Given the description of an element on the screen output the (x, y) to click on. 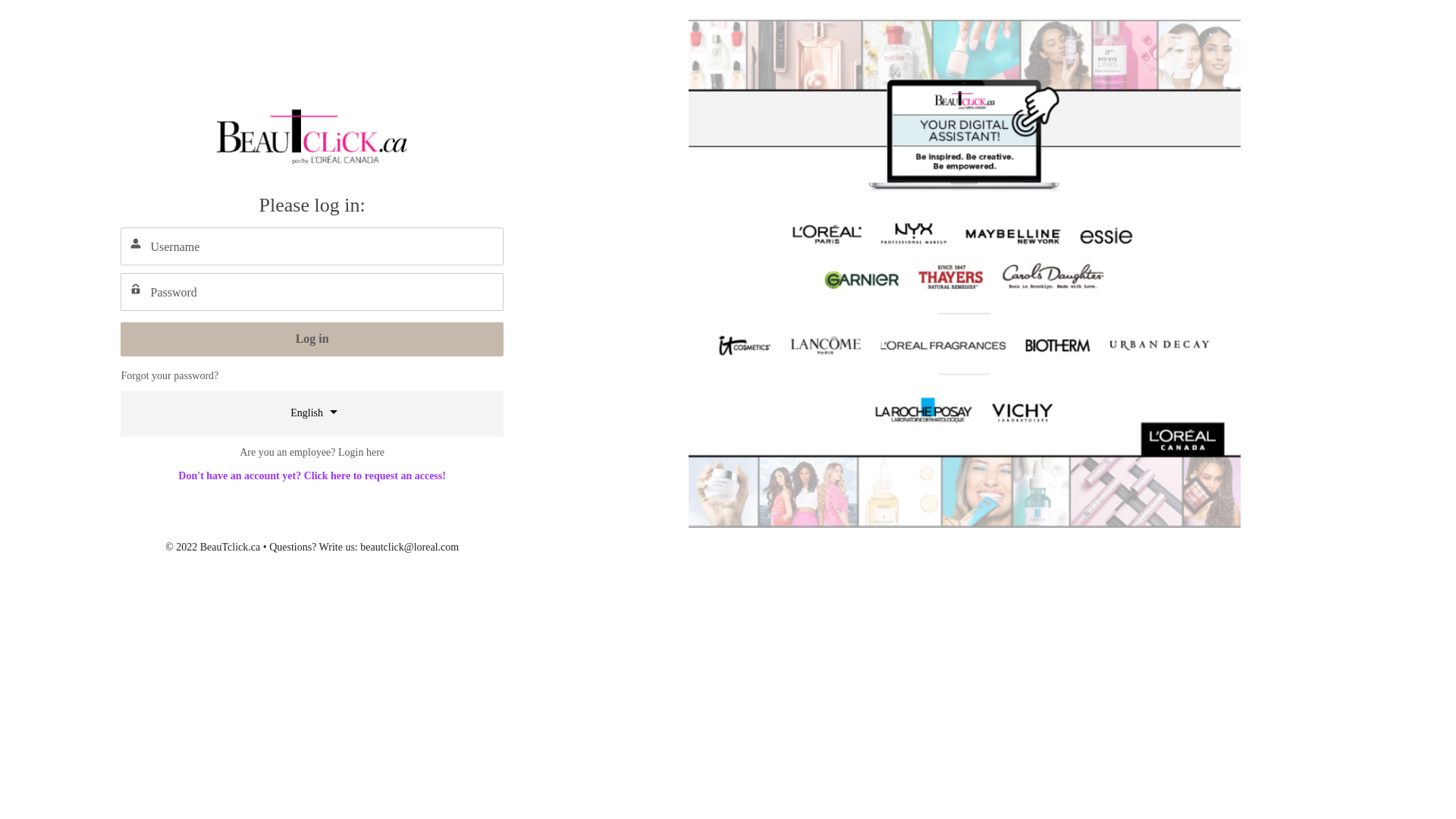
Log in Element type: text (311, 339)
Forgot your password? Element type: text (169, 375)
Are you an employee? Login here Element type: text (311, 452)
English Element type: text (311, 411)
Don't have an account yet? Click here to request an access! Element type: text (311, 475)
